Given the description of an element on the screen output the (x, y) to click on. 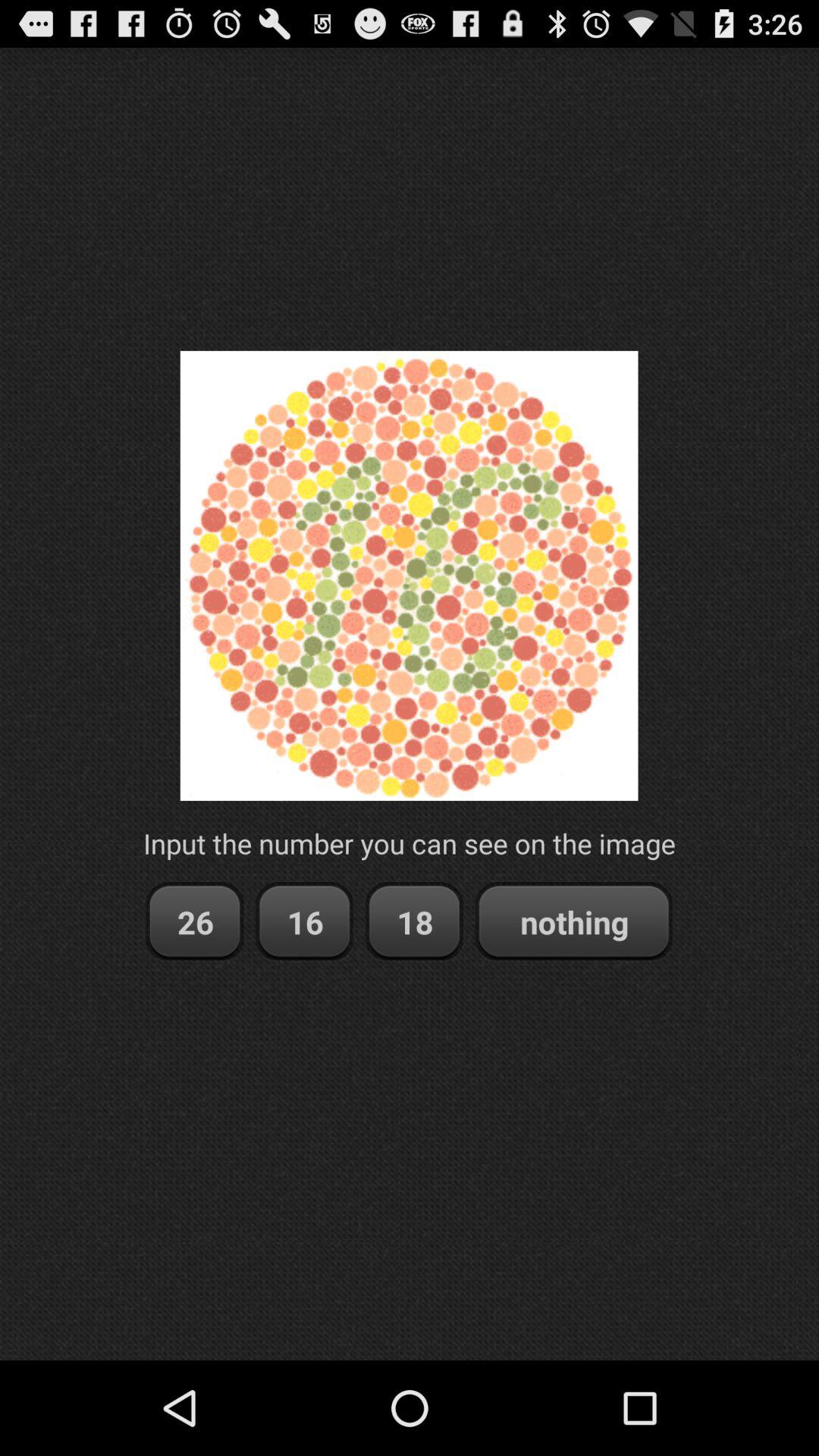
turn off item below the input the number app (304, 921)
